Given the description of an element on the screen output the (x, y) to click on. 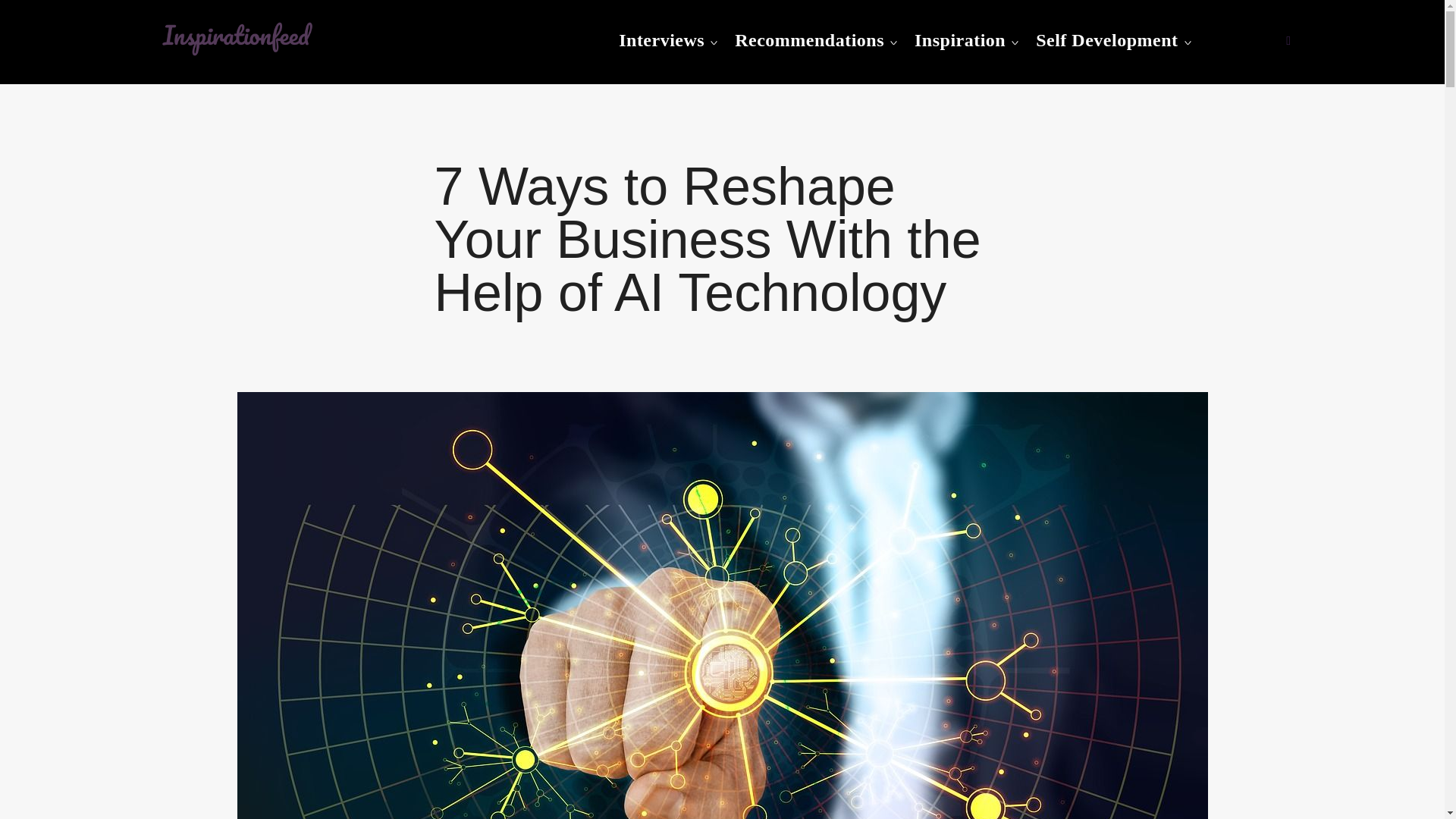
Search (20, 18)
Self Development (1106, 40)
open search form (1287, 40)
Recommendations (809, 40)
Inspirationfeed (251, 77)
Inspiration (960, 40)
Interviews (661, 40)
